Given the description of an element on the screen output the (x, y) to click on. 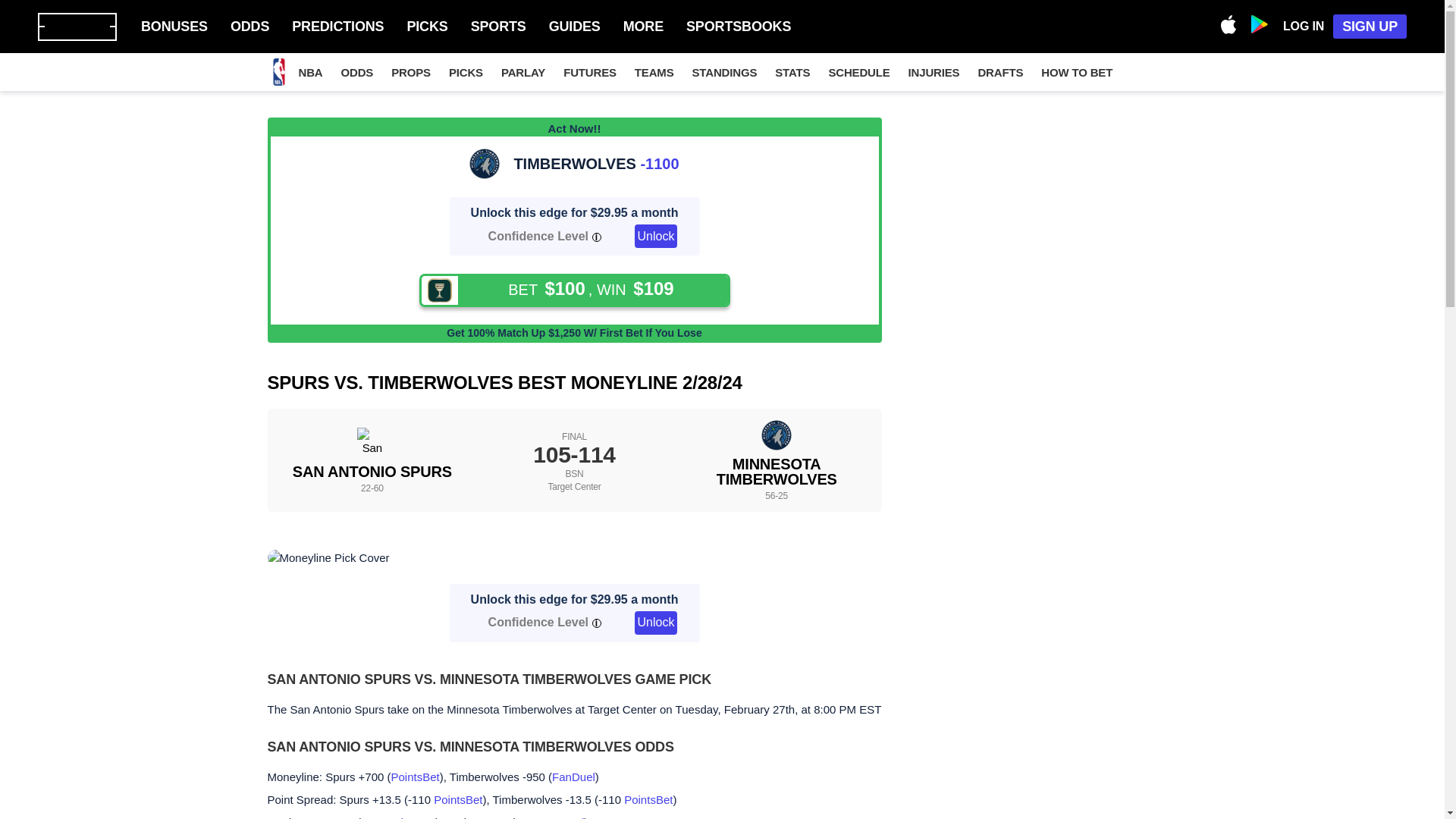
BONUSES (174, 26)
PREDICTIONS (338, 26)
SPORTS (497, 26)
